Given the description of an element on the screen output the (x, y) to click on. 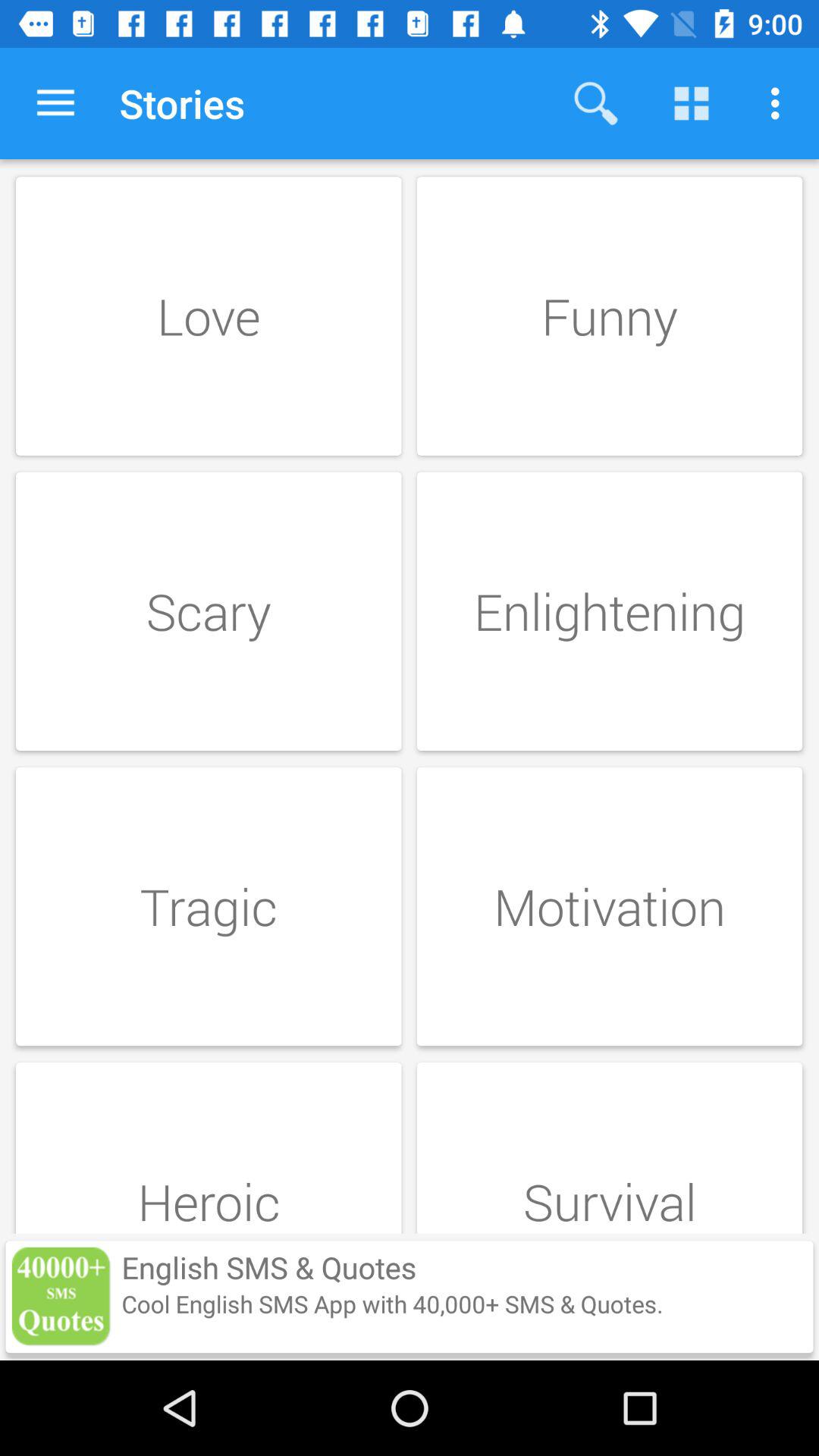
launch app next to the stories (595, 103)
